Given the description of an element on the screen output the (x, y) to click on. 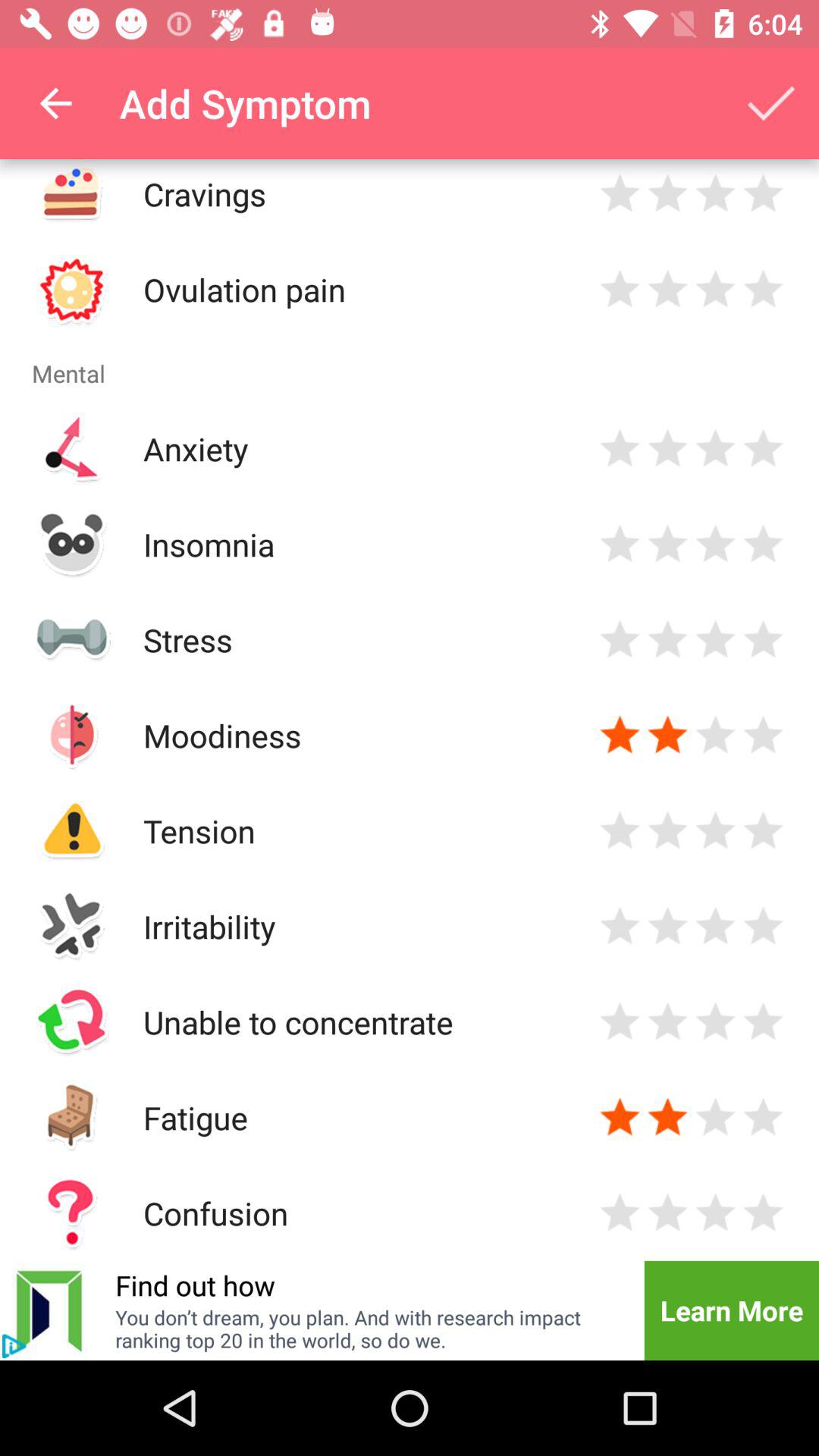
rate symptom (763, 830)
